Given the description of an element on the screen output the (x, y) to click on. 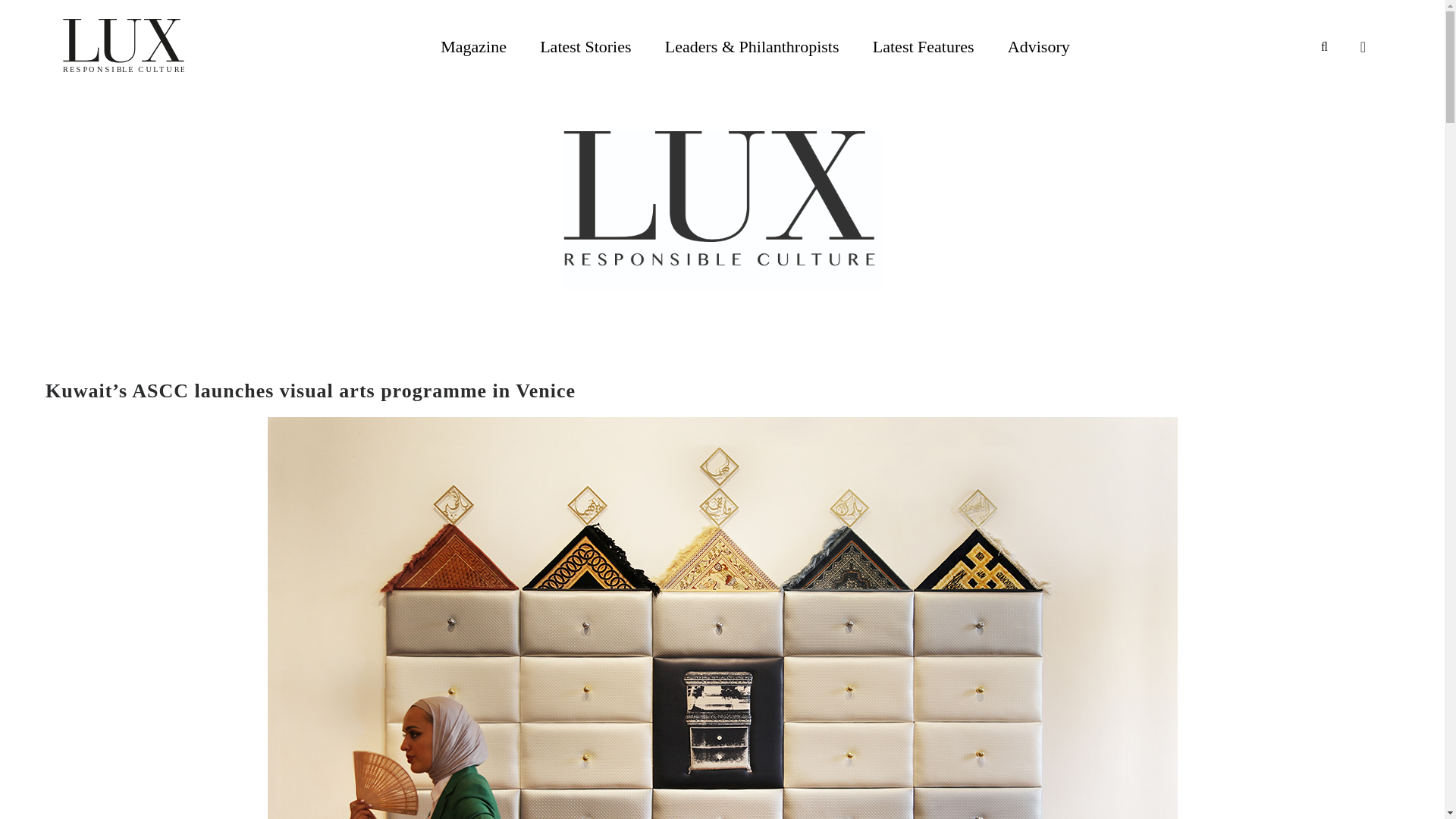
Magazine (473, 46)
Advisory (1038, 46)
Latest Stories (585, 46)
Latest Features (923, 46)
